Given the description of an element on the screen output the (x, y) to click on. 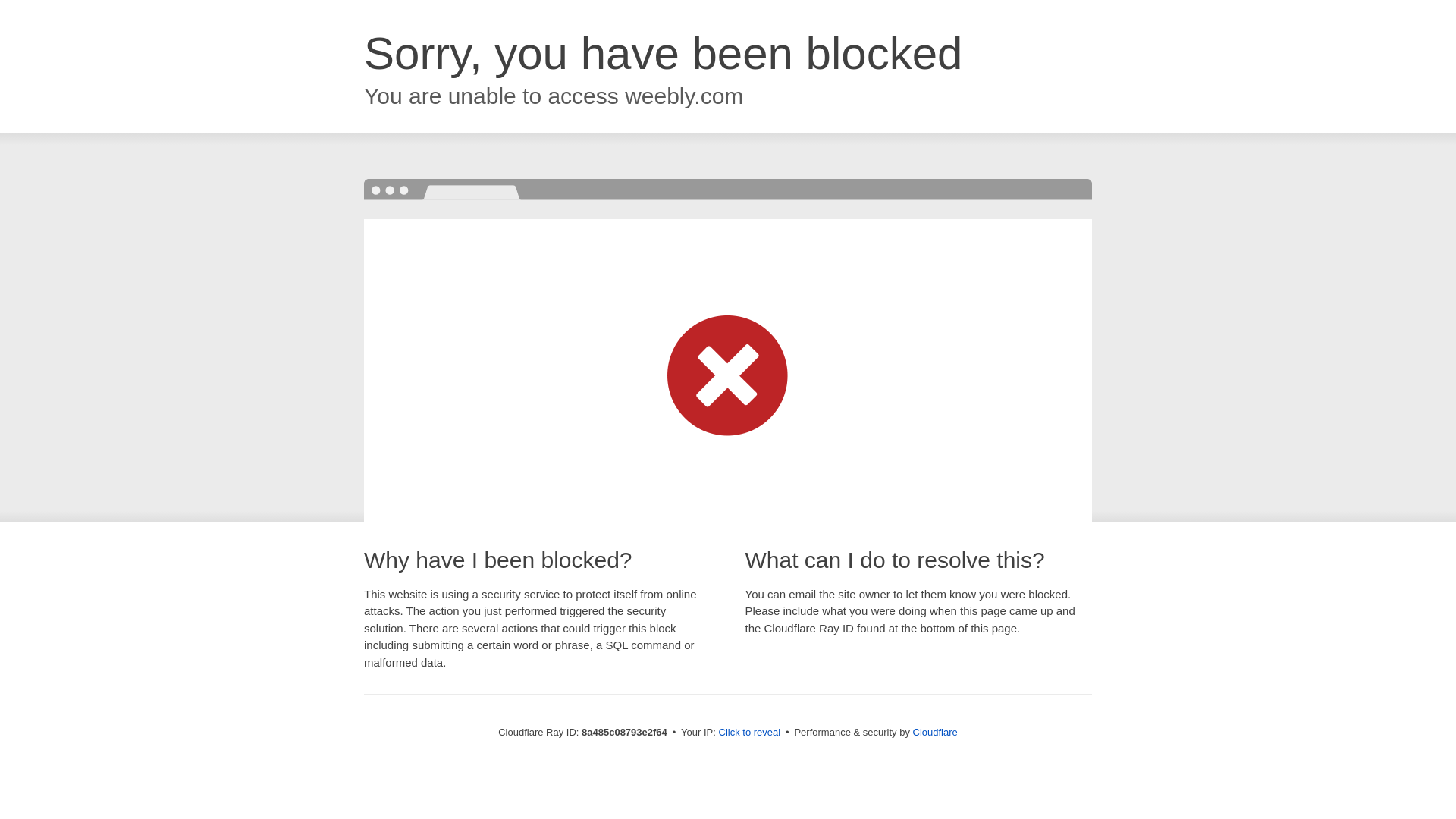
Cloudflare (935, 731)
Click to reveal (749, 732)
